Given the description of an element on the screen output the (x, y) to click on. 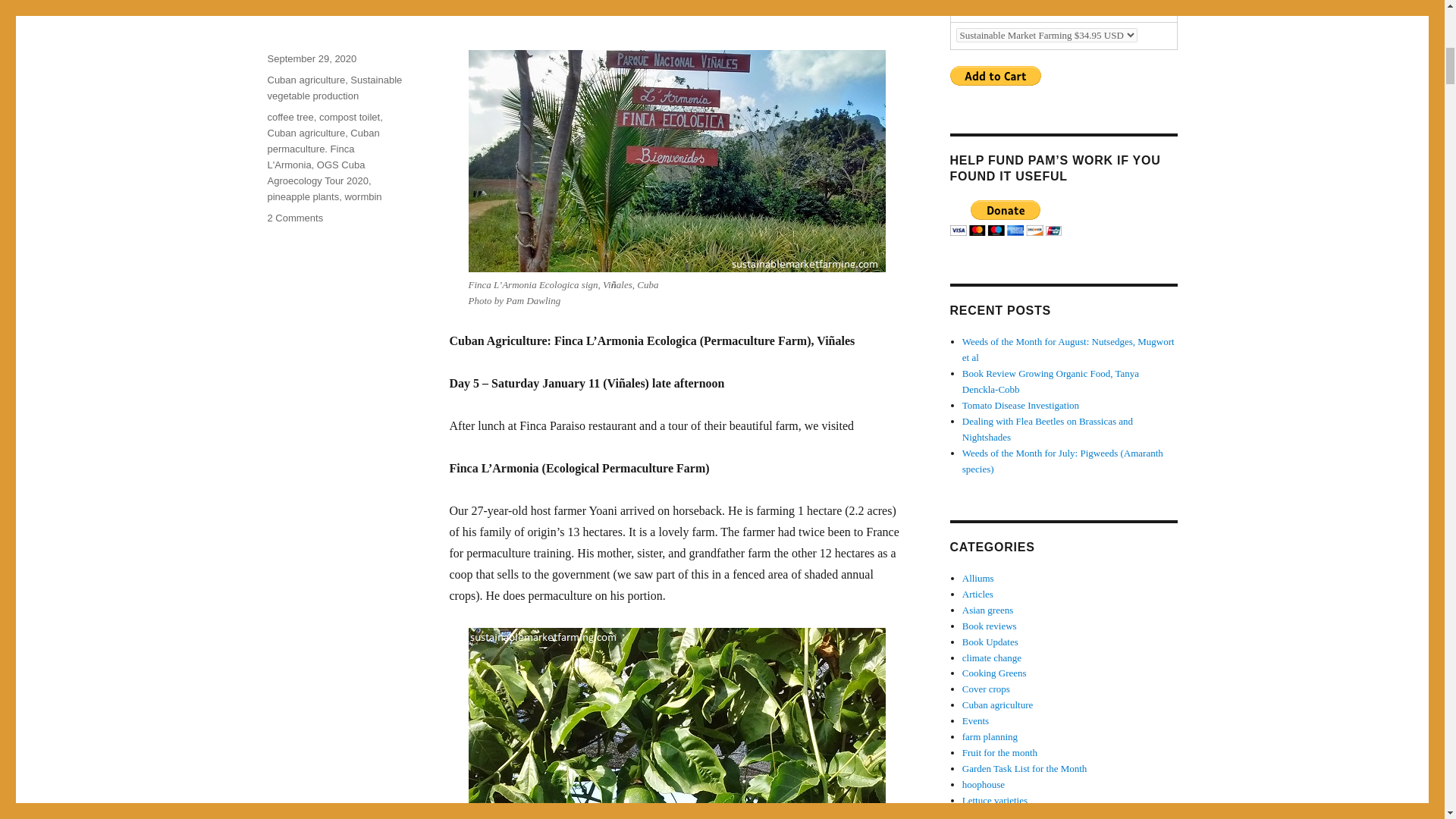
Cuban permaculture. Finca L'Armonia (322, 148)
Cuban agriculture (305, 79)
compost toilet (349, 116)
pineapple plants (302, 196)
Cuban agriculture (305, 132)
coffee tree (289, 116)
Sustainable vegetable production (333, 87)
wormbin (362, 196)
PayPal - The safer, easier way to pay online! (1005, 217)
OGS Cuba Agroecology Tour 2020 (317, 172)
